Given the description of an element on the screen output the (x, y) to click on. 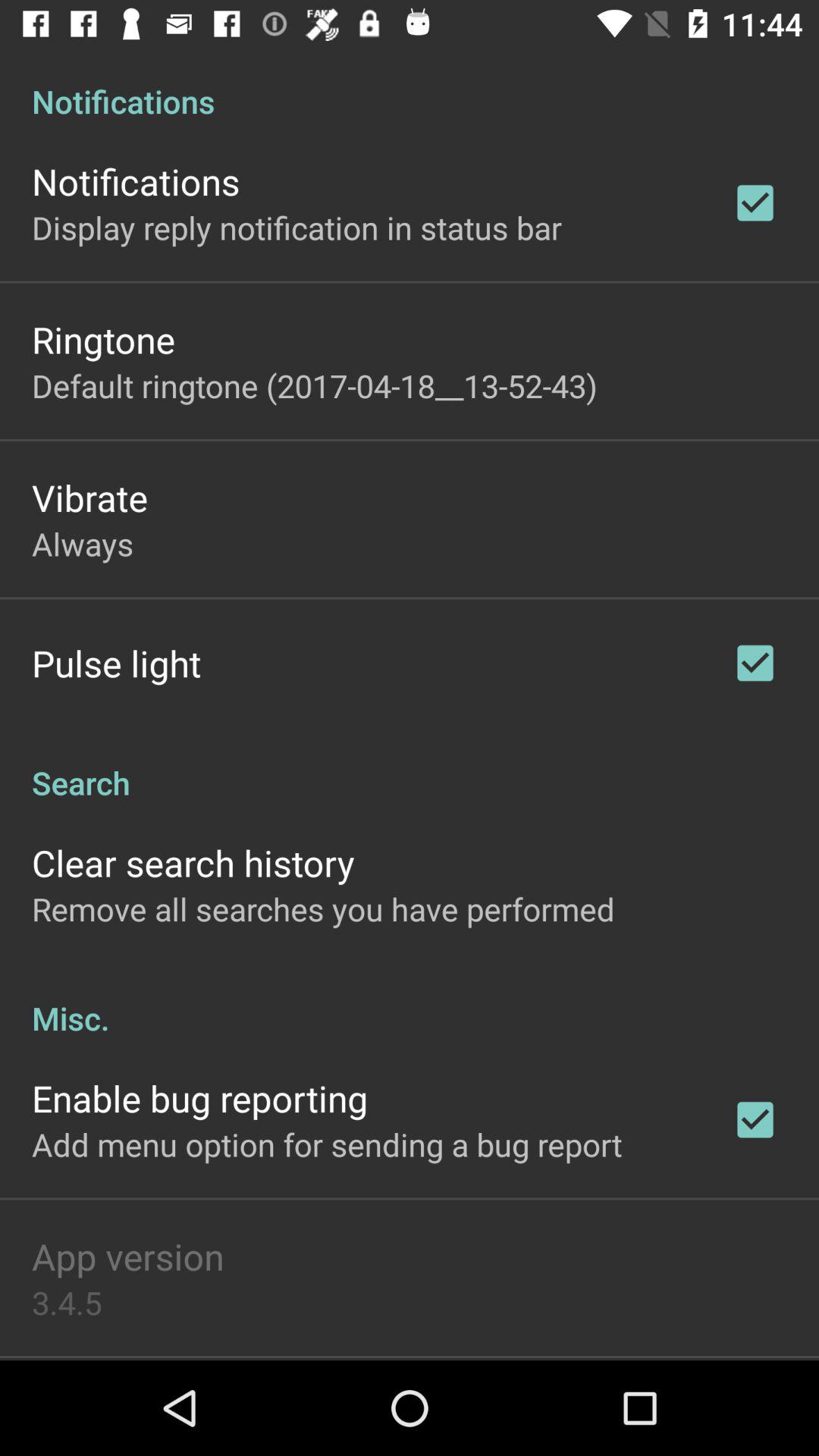
choose the icon above the enable bug reporting app (409, 1001)
